Given the description of an element on the screen output the (x, y) to click on. 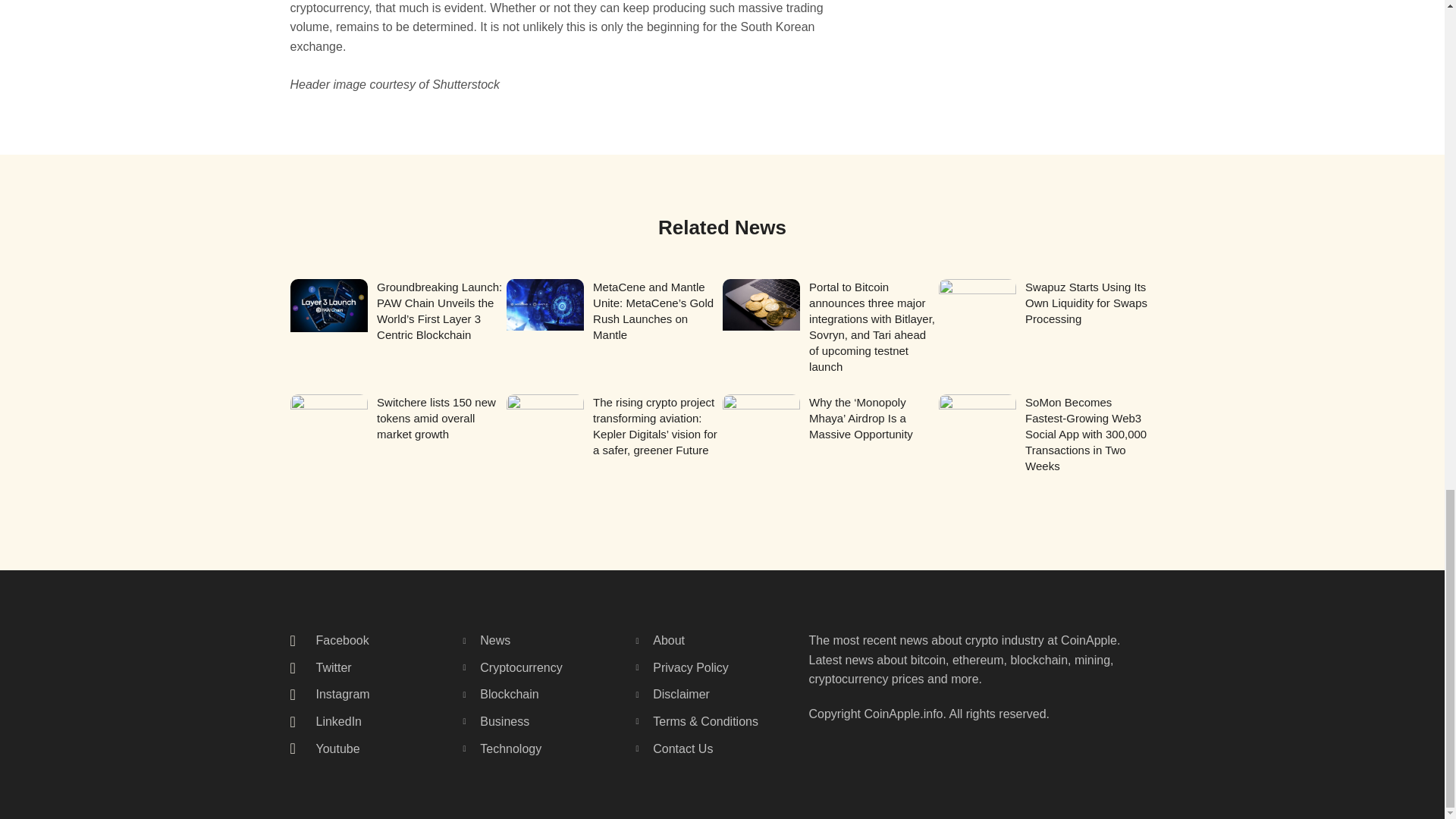
Swapuz Starts Using Its Own Liquidity for Swaps Processing (1086, 302)
Switchere lists 150 new tokens amid overall market growth (436, 417)
